Given the description of an element on the screen output the (x, y) to click on. 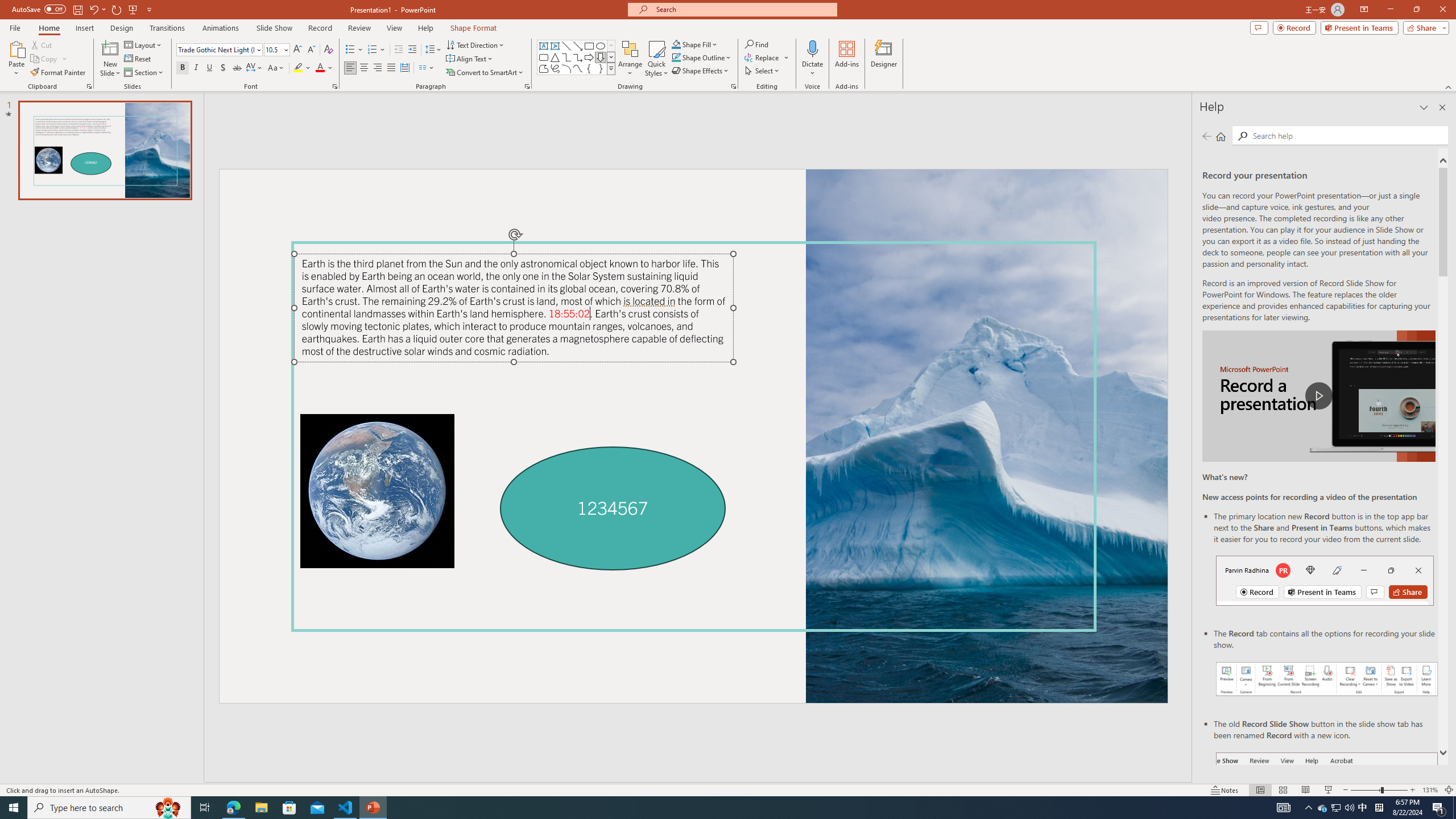
Copy (45, 58)
New Slide (110, 48)
Underline (209, 67)
Font Color Red (320, 67)
Shape Effects (700, 69)
Character Spacing (254, 67)
Dictate (812, 48)
Font Size (273, 49)
Bold (182, 67)
Section (144, 72)
